Given the description of an element on the screen output the (x, y) to click on. 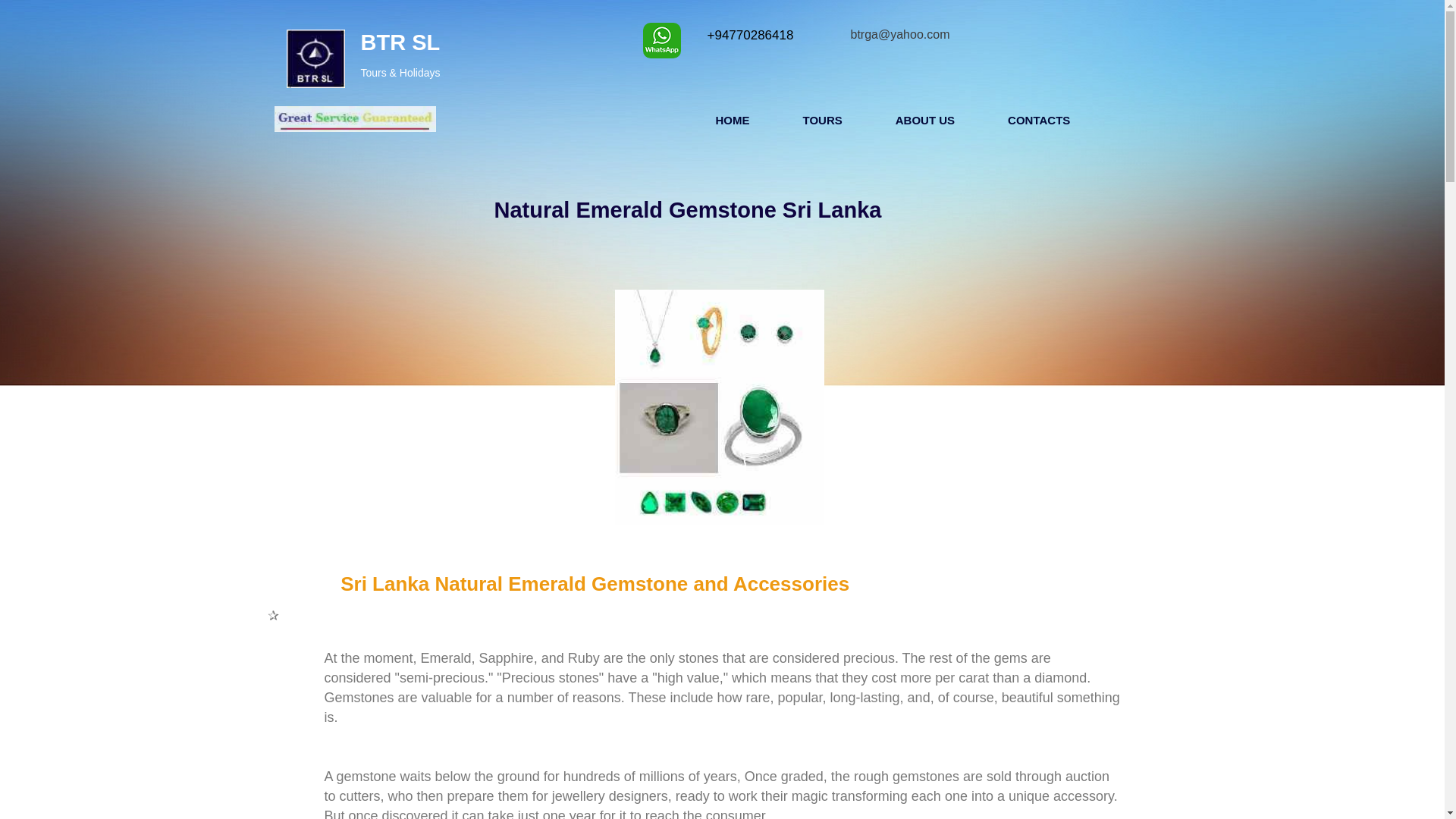
TOURS (822, 120)
ABOUT US (924, 120)
HOME (732, 120)
CONTACTS (1038, 120)
